Given the description of an element on the screen output the (x, y) to click on. 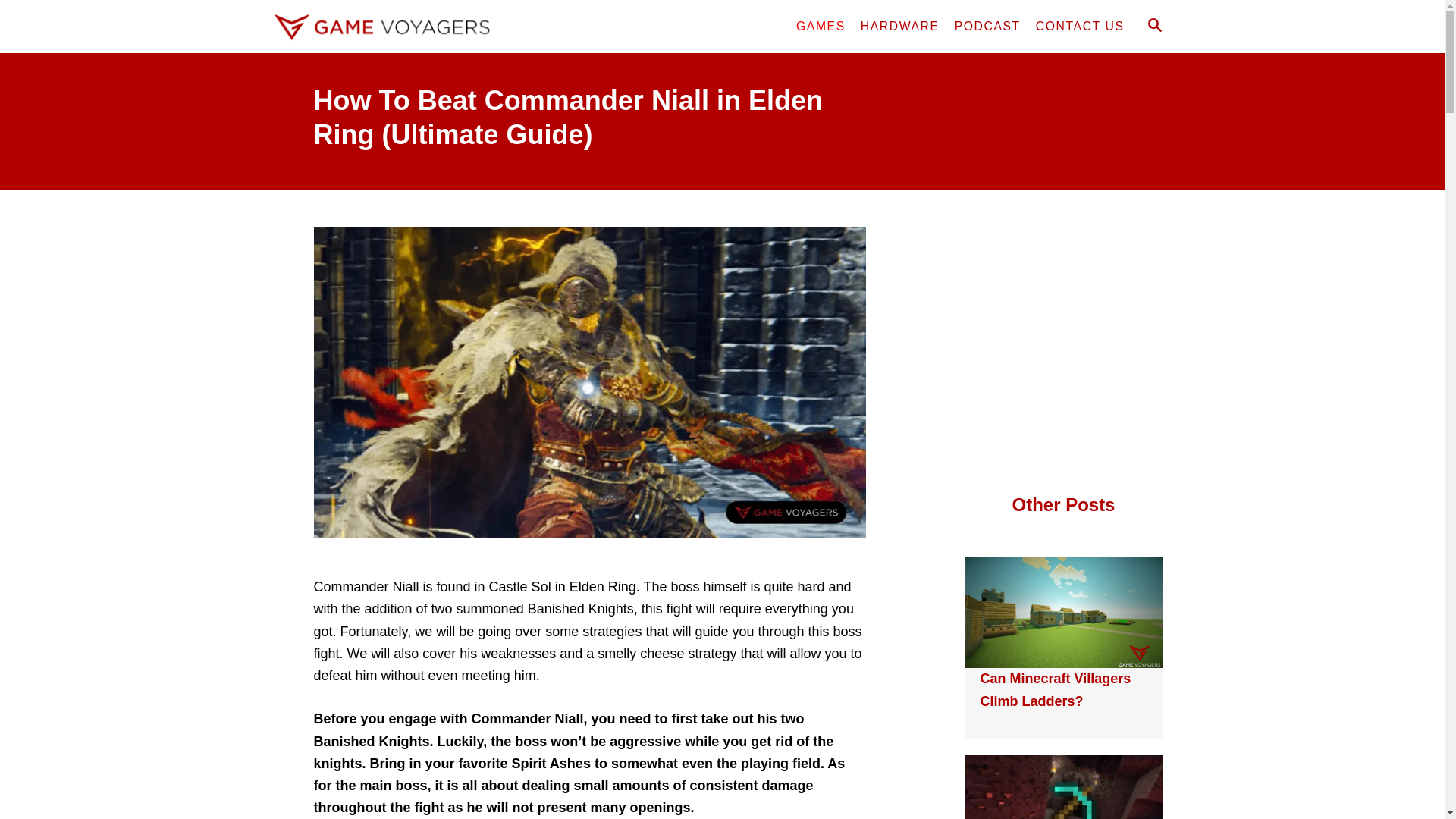
CONTACT US (1079, 26)
SEARCH (1153, 26)
Game Voyagers (403, 26)
HARDWARE (900, 26)
GAMES (821, 26)
Can Minecraft Villagers Climb Ladders? (1055, 689)
PODCAST (987, 26)
